Given the description of an element on the screen output the (x, y) to click on. 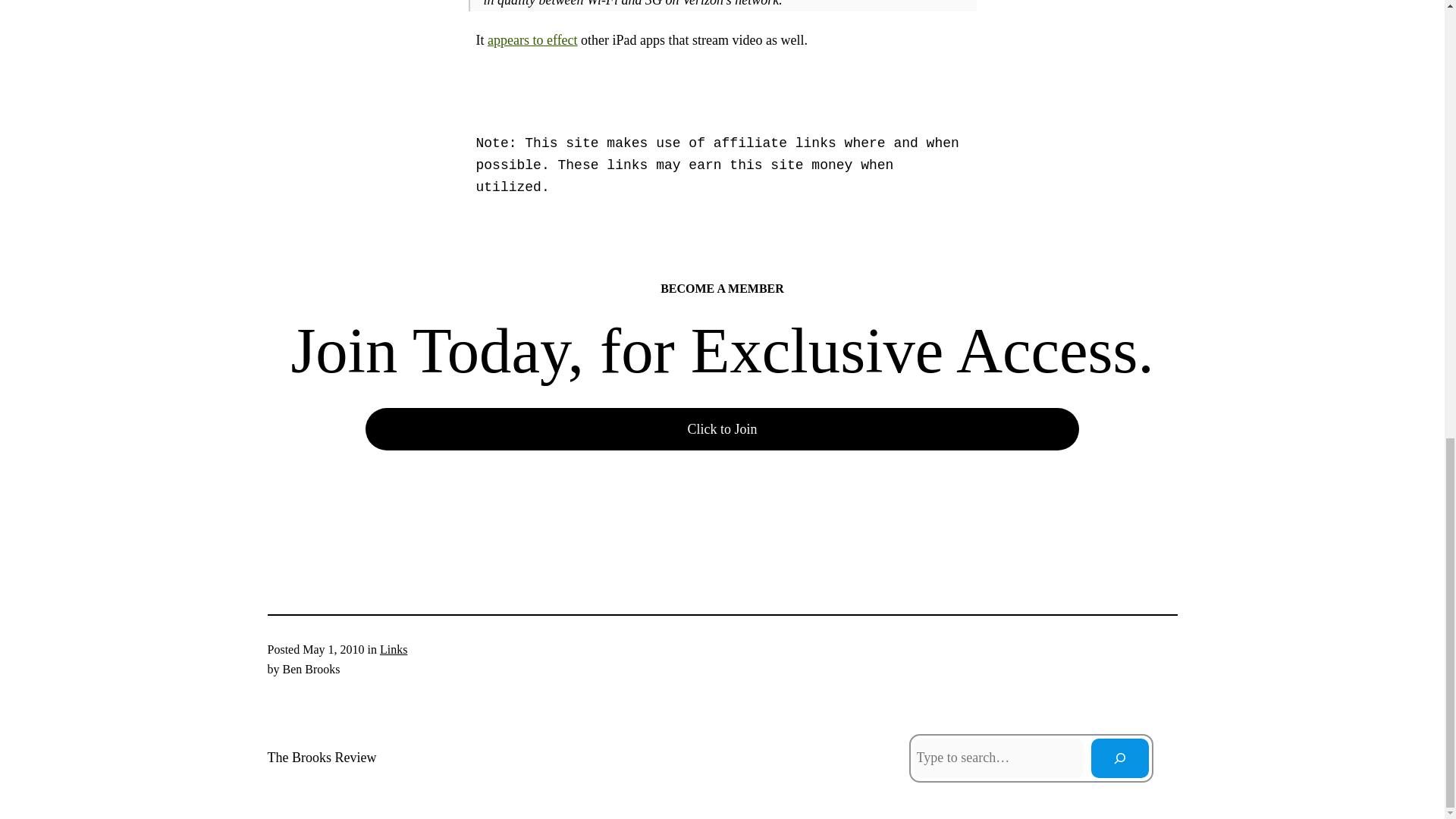
The Brooks Review (320, 757)
Click to Join (721, 429)
Links (393, 649)
appears to effect (532, 39)
